Given the description of an element on the screen output the (x, y) to click on. 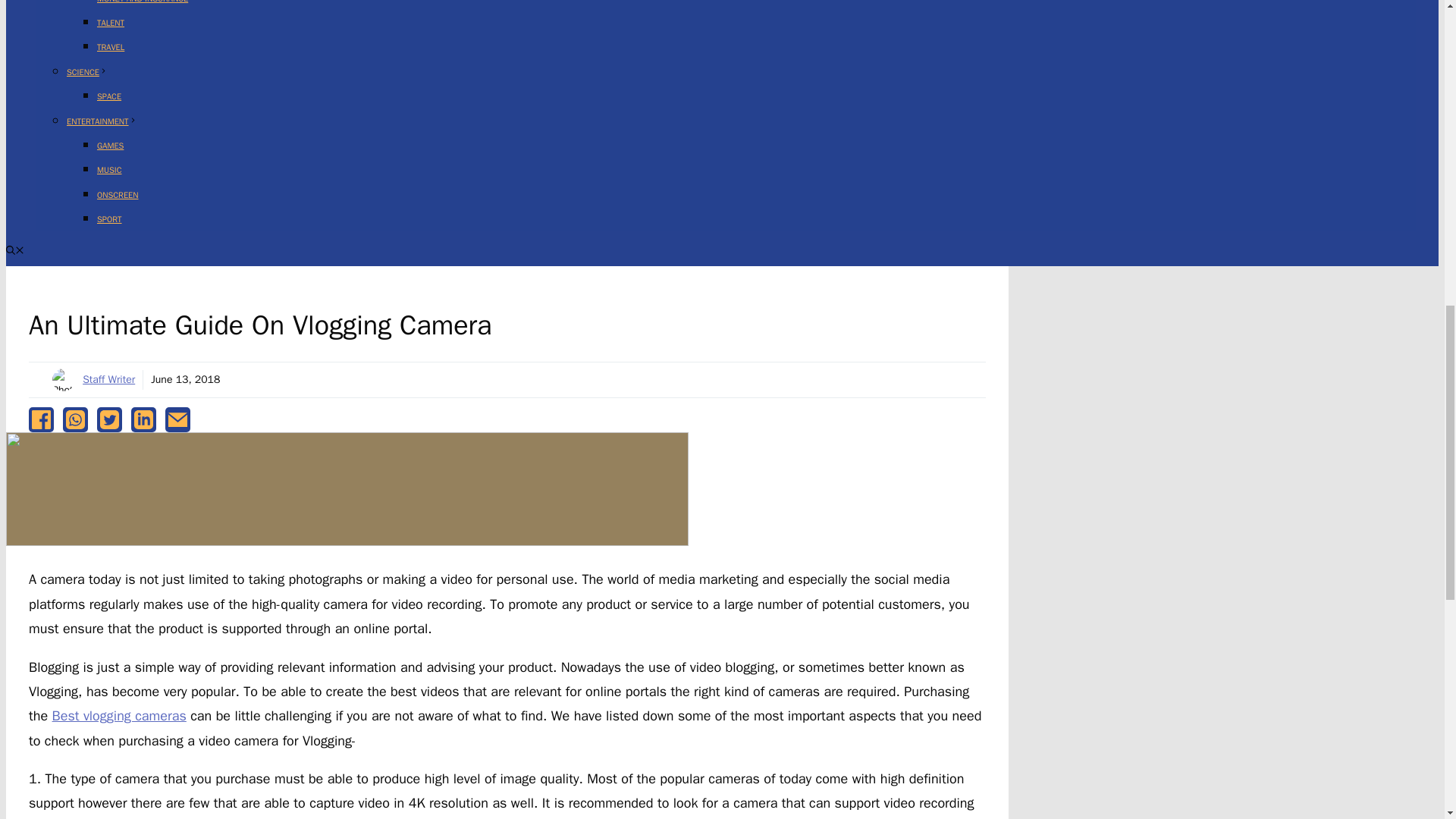
TRAVEL (110, 46)
ENTERTAINMENT (101, 121)
GAMES (110, 145)
TALENT (110, 22)
SPACE (108, 95)
MONEY AND INSURANCE (142, 2)
SCIENCE (86, 71)
MUSIC (109, 169)
